Given the description of an element on the screen output the (x, y) to click on. 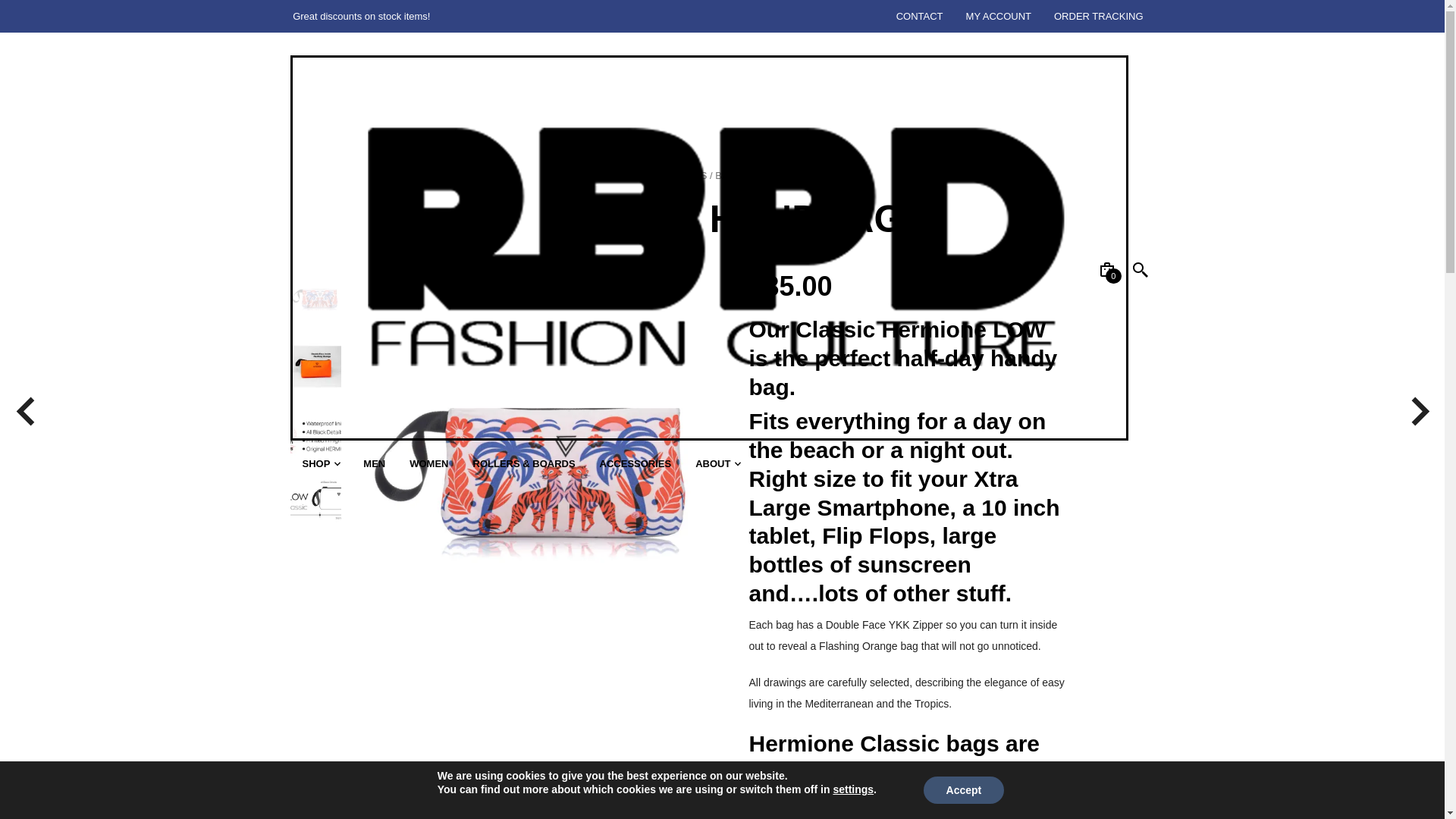
Home (615, 174)
SHOP (315, 463)
ORDER TRACKING (1098, 16)
ACCESSORIES (670, 174)
MEN (373, 463)
BAGS (728, 174)
MY ACCOUNT (998, 16)
COTTON LOW OCELOT (537, 764)
COTTON LOW OCELOT (314, 301)
0 (1106, 269)
Search (43, 19)
WOMEN (428, 463)
ABOUT (712, 463)
ACCESSORIES (636, 463)
